Given the description of an element on the screen output the (x, y) to click on. 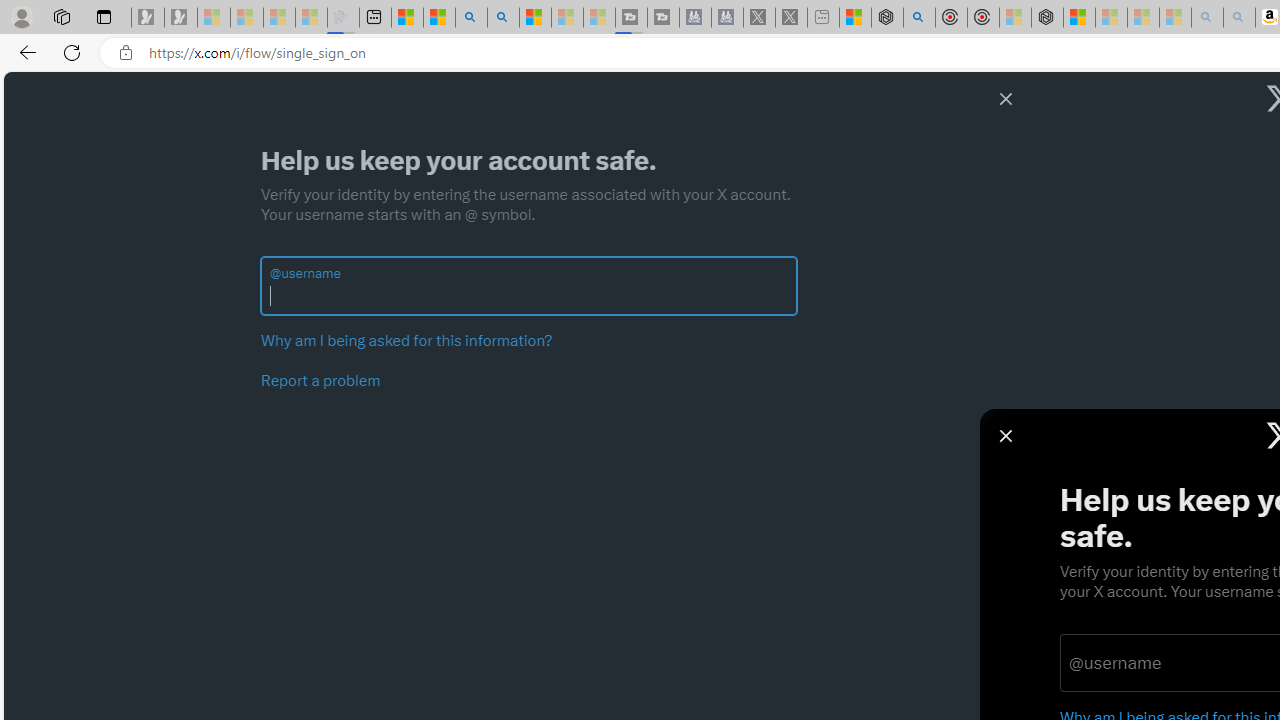
Microsoft Start - Sleeping (566, 17)
Why am I being asked for this information? (406, 340)
Report a problem (321, 381)
Amazon Echo Dot PNG - Search Images - Sleeping (1239, 17)
